Given the description of an element on the screen output the (x, y) to click on. 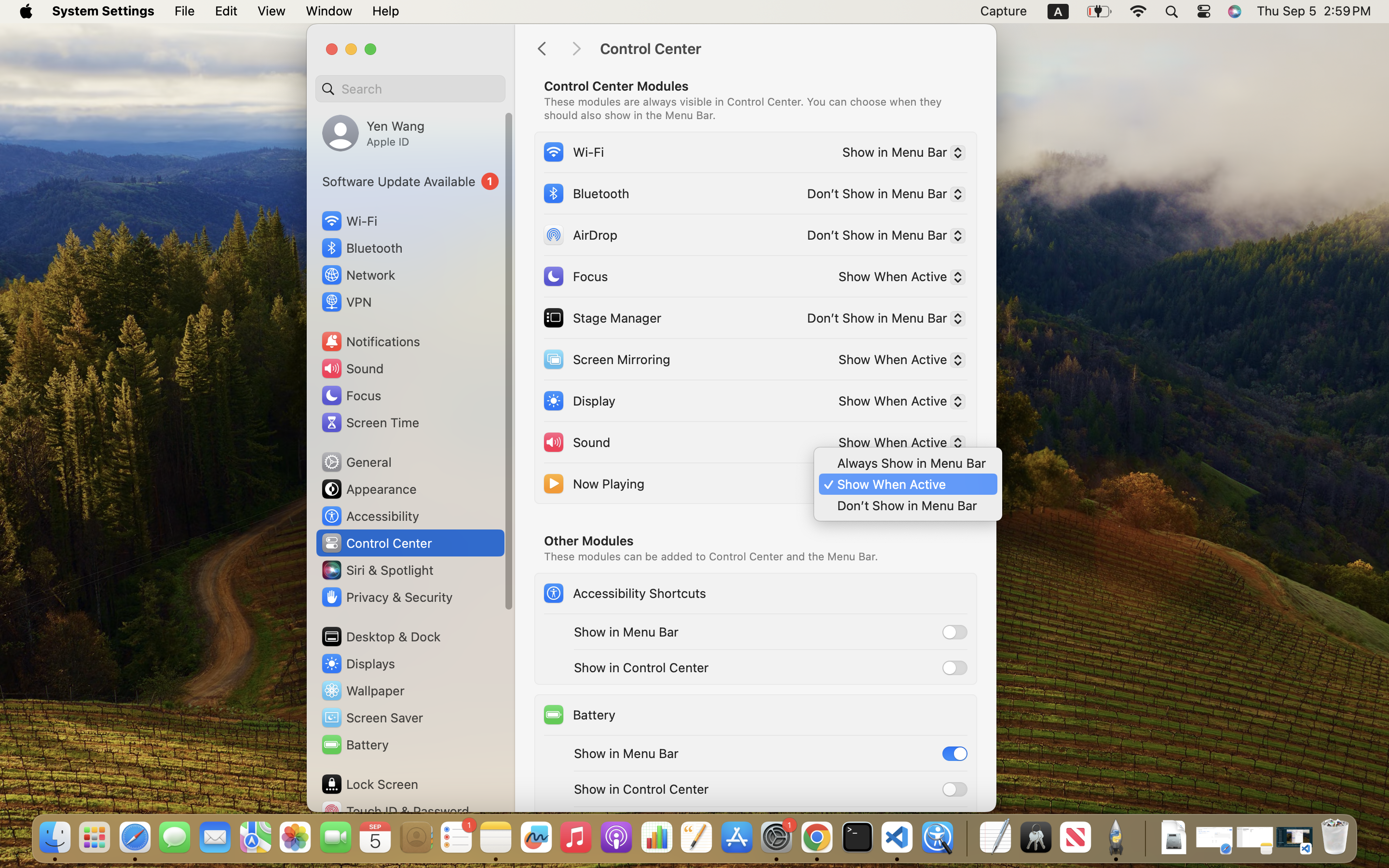
Accessibility Shortcuts Element type: AXStaticText (624, 592)
Desktop & Dock Element type: AXStaticText (380, 636)
Stage Manager Element type: AXStaticText (601, 316)
Show When Active Element type: AXPopUpButton (897, 402)
Screen Mirroring Element type: AXStaticText (606, 358)
